Given the description of an element on the screen output the (x, y) to click on. 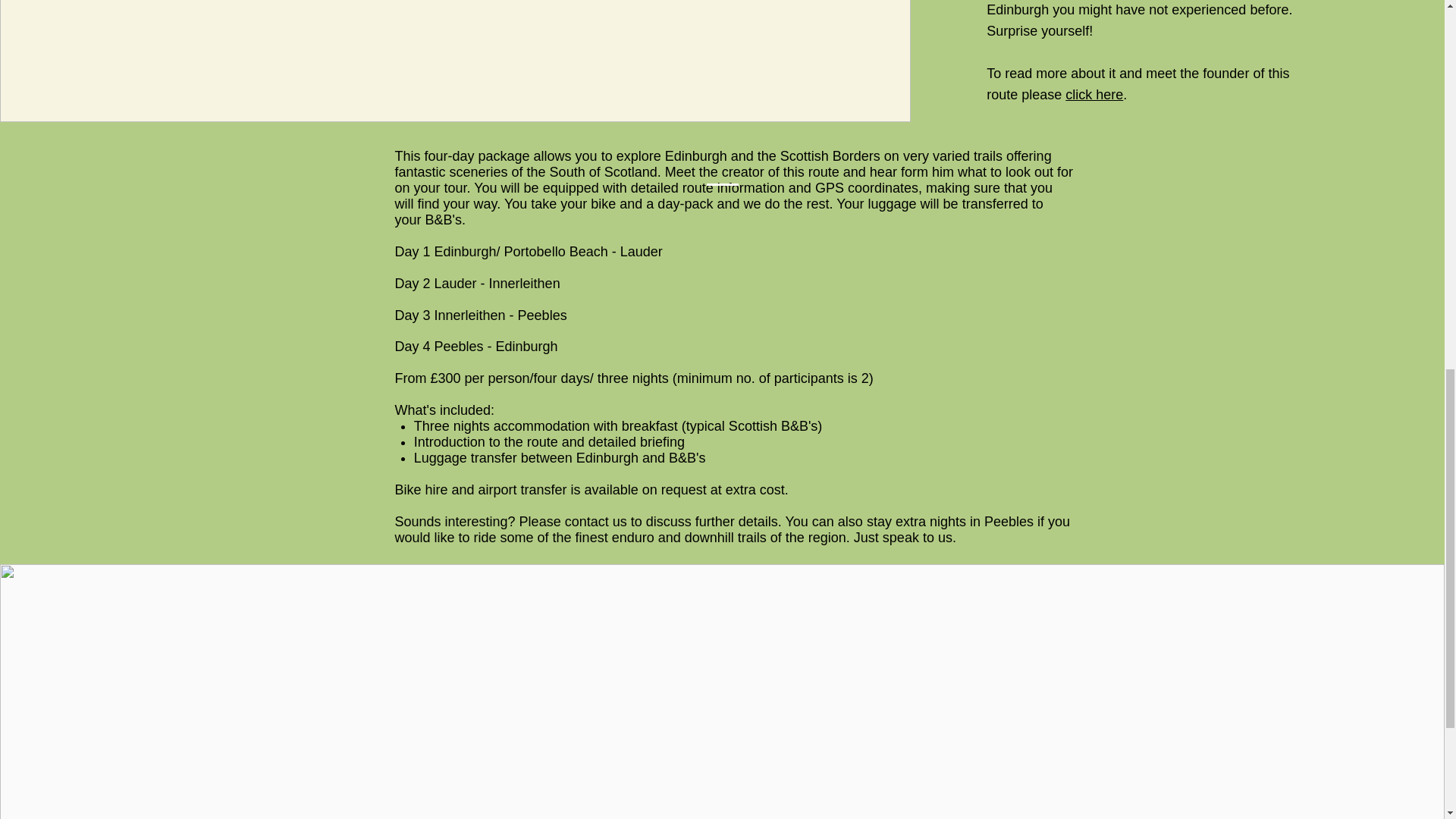
click here (1093, 94)
